Given the description of an element on the screen output the (x, y) to click on. 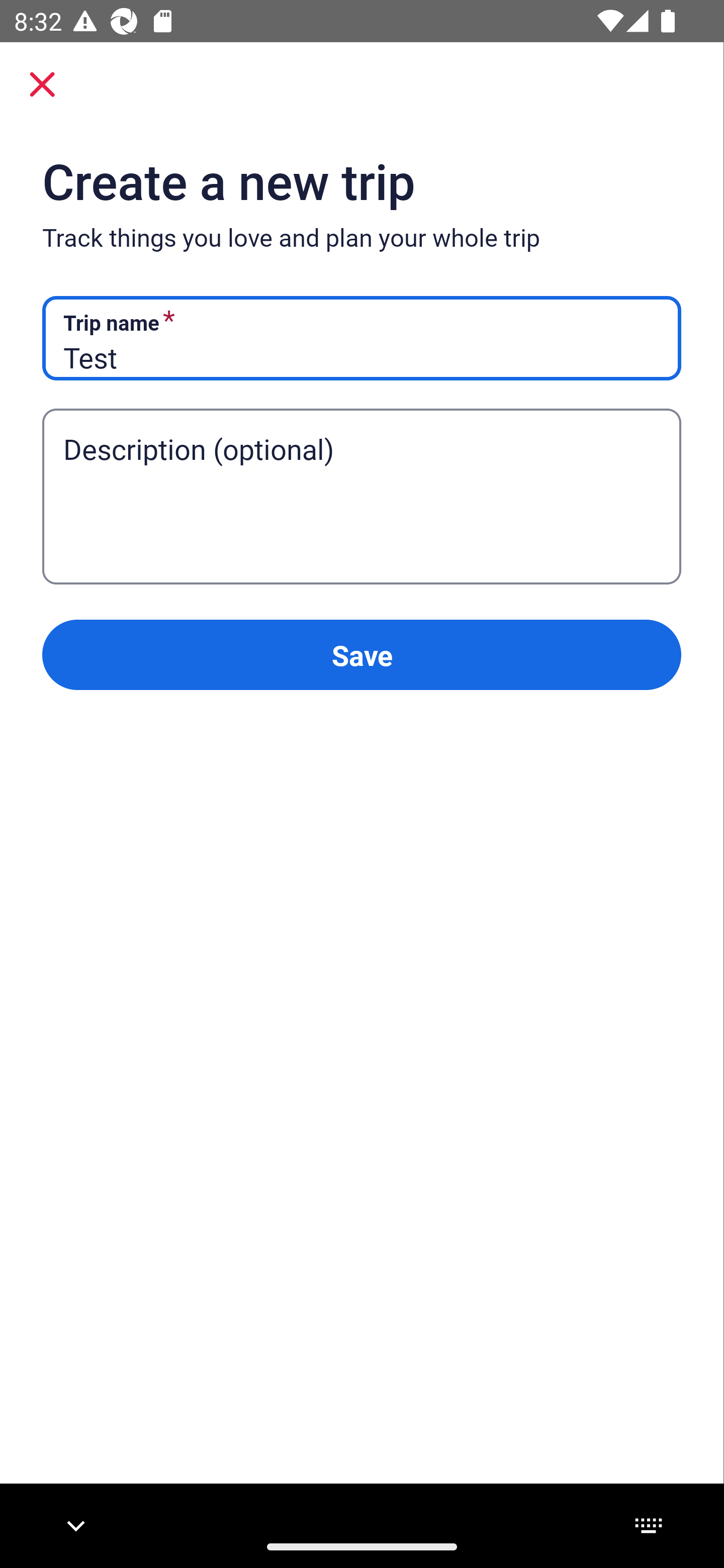
Close (42, 84)
Test Trip name* Trip name required (361, 338)
Description (optional) (361, 467)
Save (361, 655)
